Given the description of an element on the screen output the (x, y) to click on. 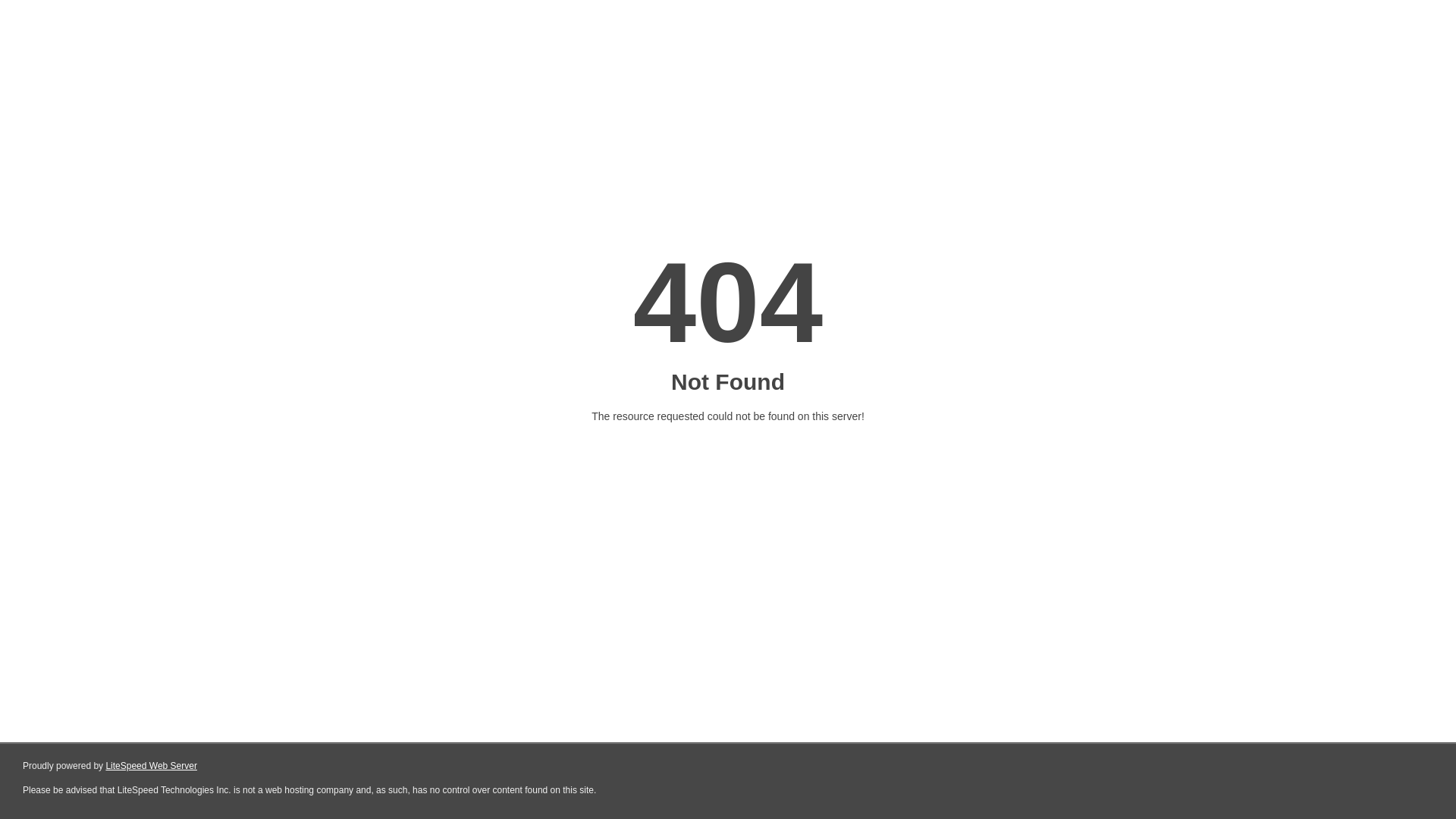
LiteSpeed Web Server Element type: text (151, 765)
